Given the description of an element on the screen output the (x, y) to click on. 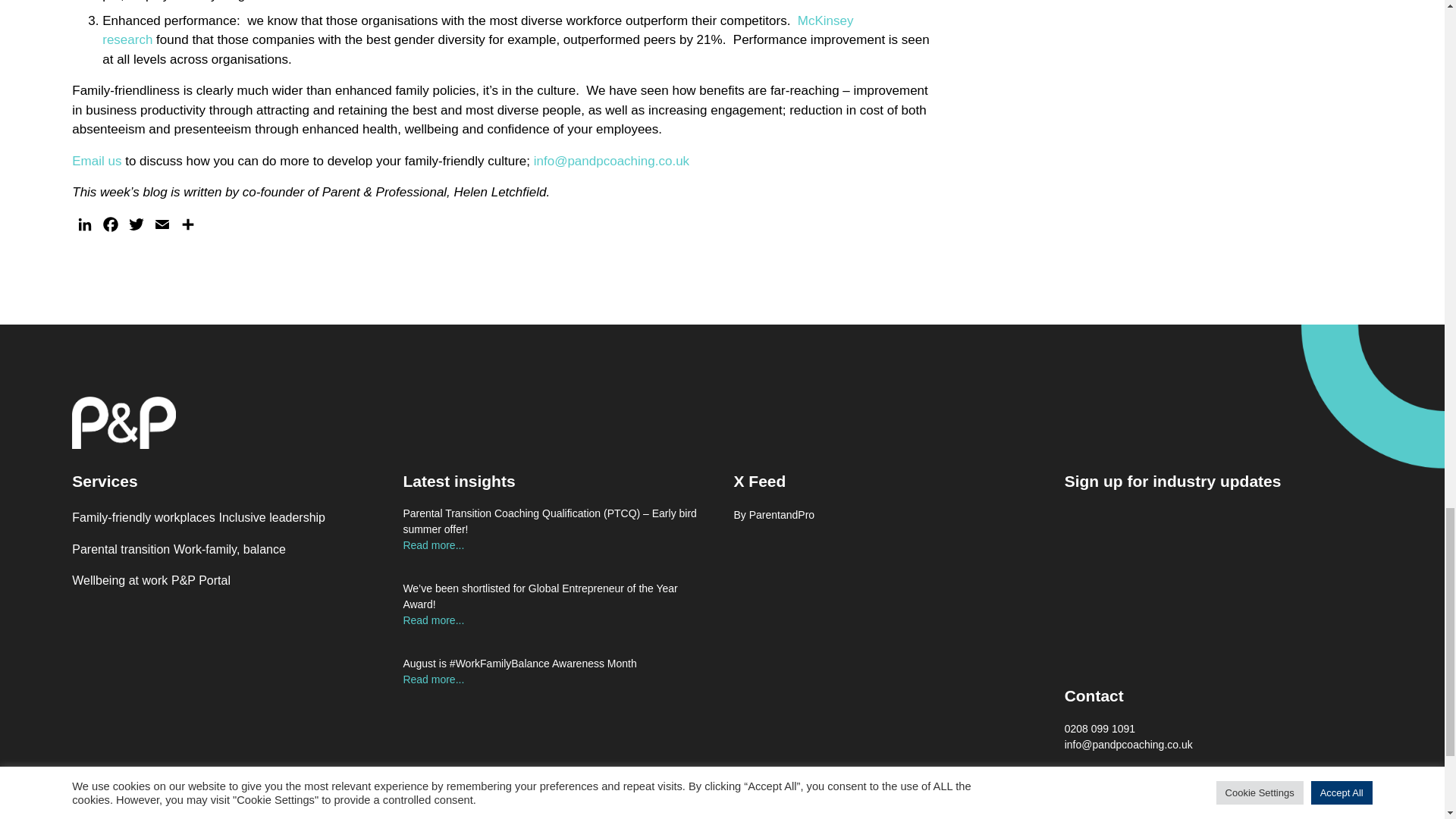
Email (161, 227)
LinkedIn (84, 227)
LinkedIn (84, 227)
Email (161, 227)
Parental transition (120, 549)
Email us (95, 160)
McKinsey research (477, 30)
Facebook (110, 227)
Twitter (136, 227)
Form 1 (1218, 587)
Twitter (136, 227)
Family-friendly workplaces (143, 517)
Facebook (110, 227)
Inclusive leadership (271, 517)
